Given the description of an element on the screen output the (x, y) to click on. 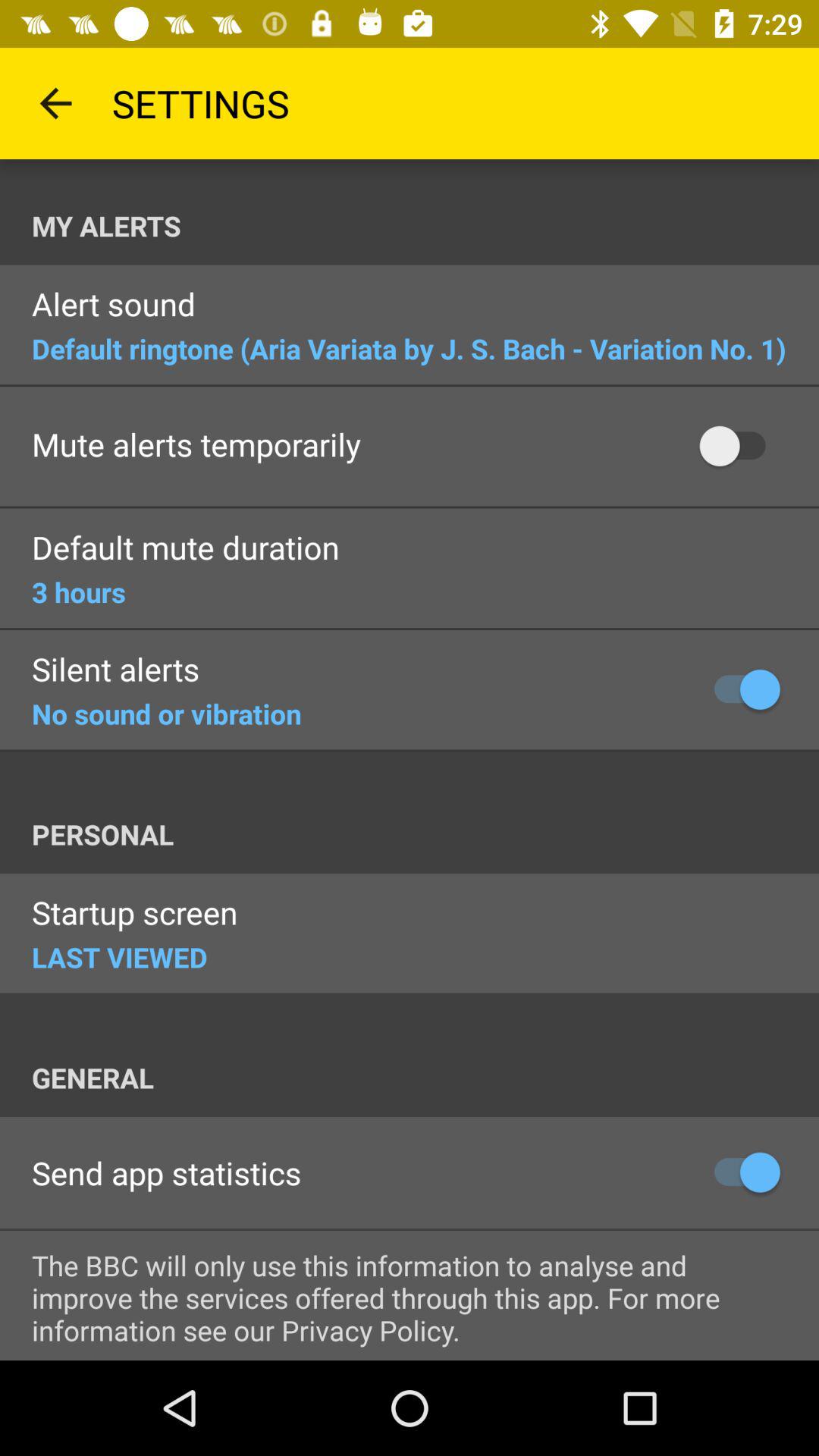
open icon above silent alerts icon (78, 591)
